Given the description of an element on the screen output the (x, y) to click on. 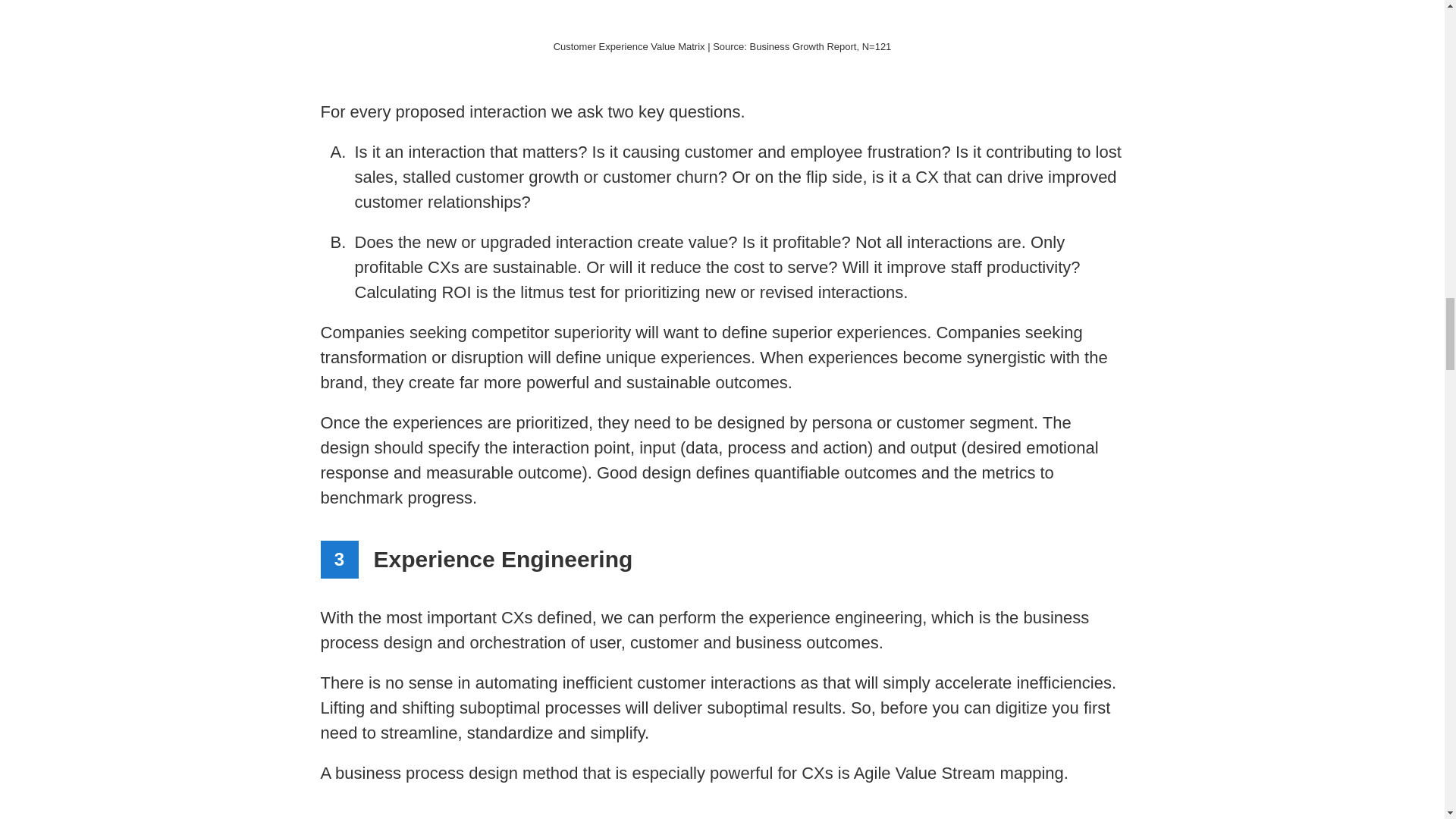
Customer Experience Value Matrix - Johnny Grow (721, 16)
